Given the description of an element on the screen output the (x, y) to click on. 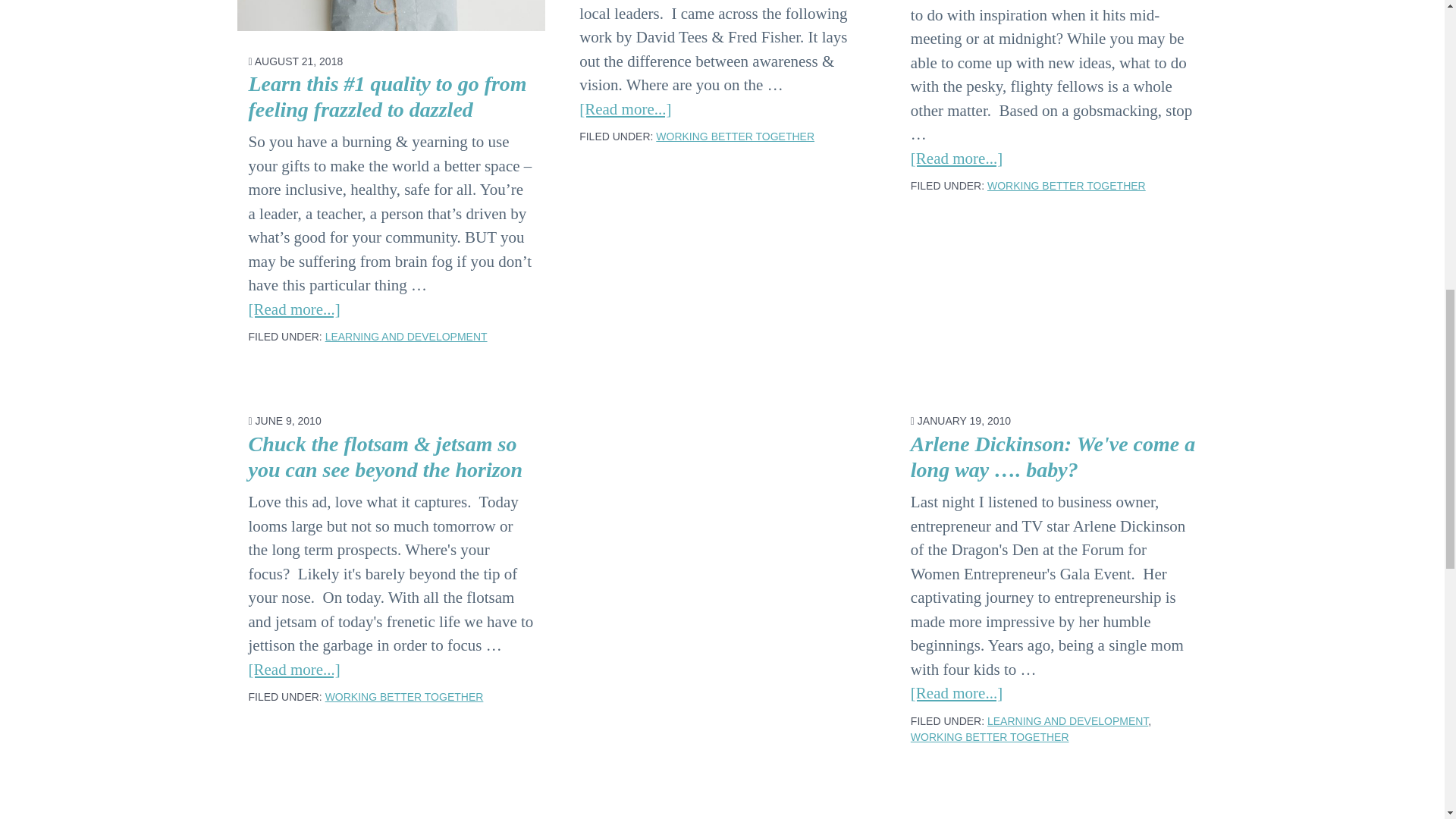
WORKING BETTER TOGETHER (403, 696)
WORKING BETTER TOGETHER (1066, 185)
WORKING BETTER TOGETHER (734, 136)
LEARNING AND DEVELOPMENT (1067, 720)
LEARNING AND DEVELOPMENT (405, 336)
WORKING BETTER TOGETHER (989, 736)
